Given the description of an element on the screen output the (x, y) to click on. 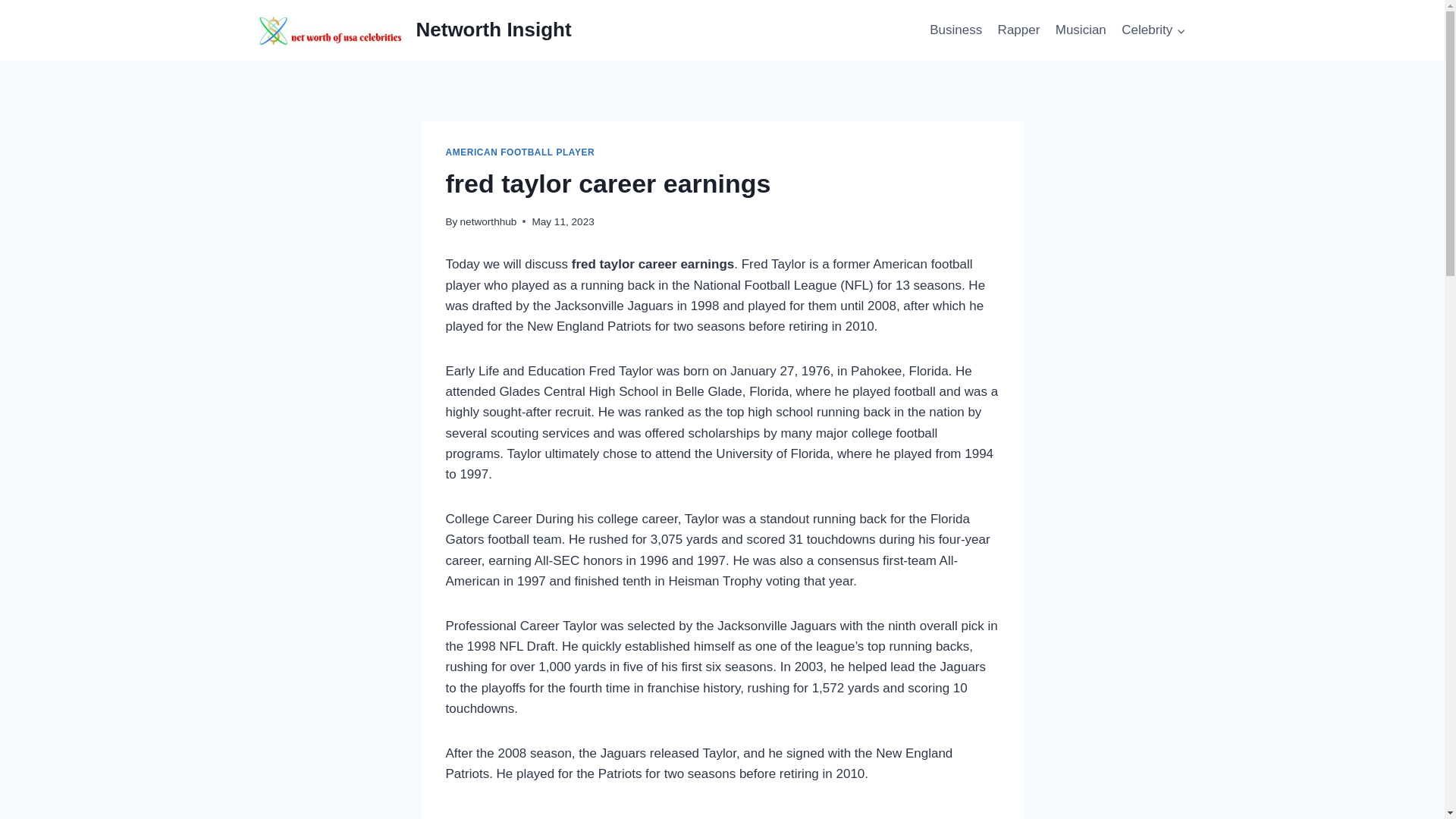
Celebrity (1152, 30)
AMERICAN FOOTBALL PLAYER (520, 152)
Rapper (1018, 30)
Business (955, 30)
networthhub (488, 221)
Musician (1080, 30)
Networth Insight (411, 30)
